Given the description of an element on the screen output the (x, y) to click on. 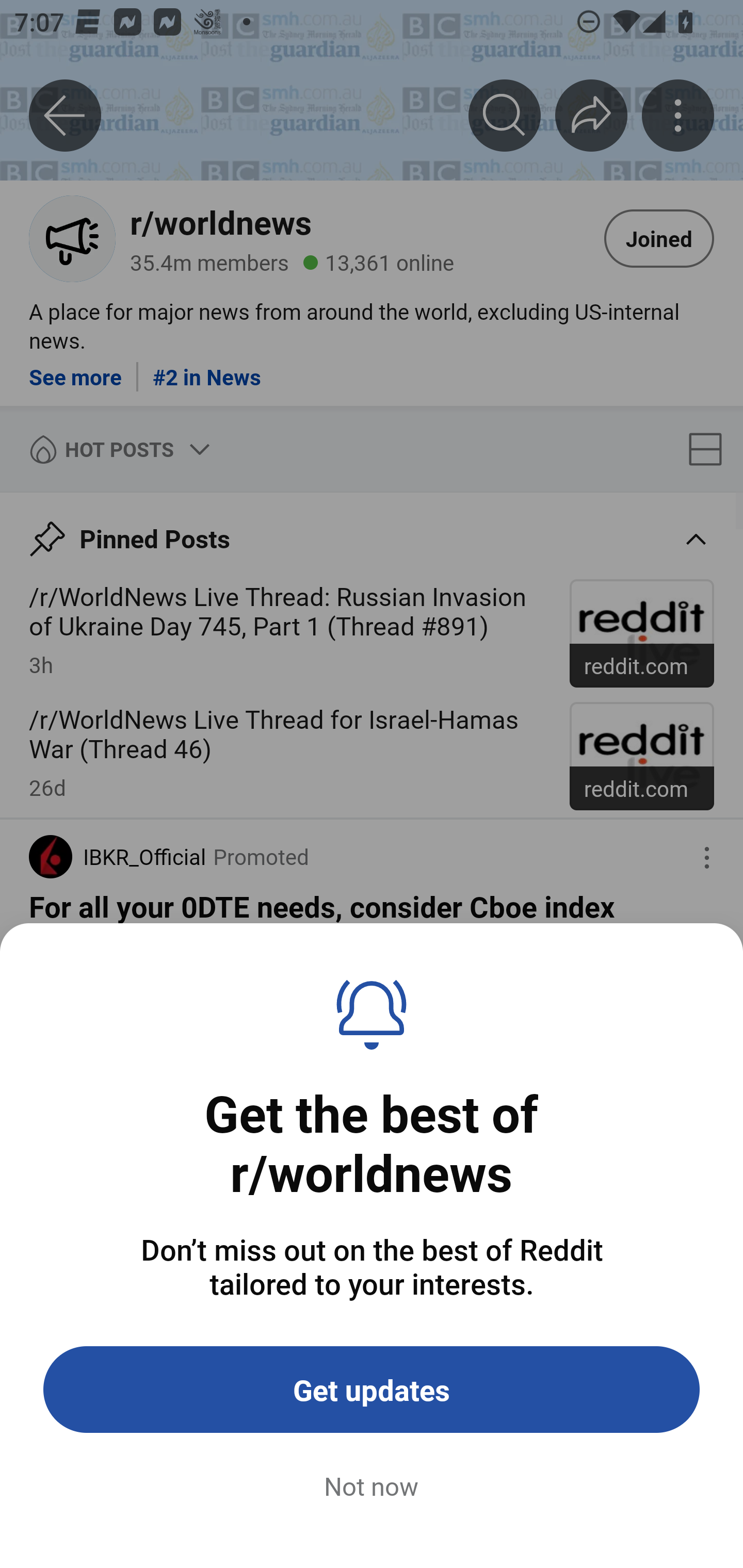
Image (371, 1223)
Get updates (371, 1389)
Not now (371, 1486)
